Given the description of an element on the screen output the (x, y) to click on. 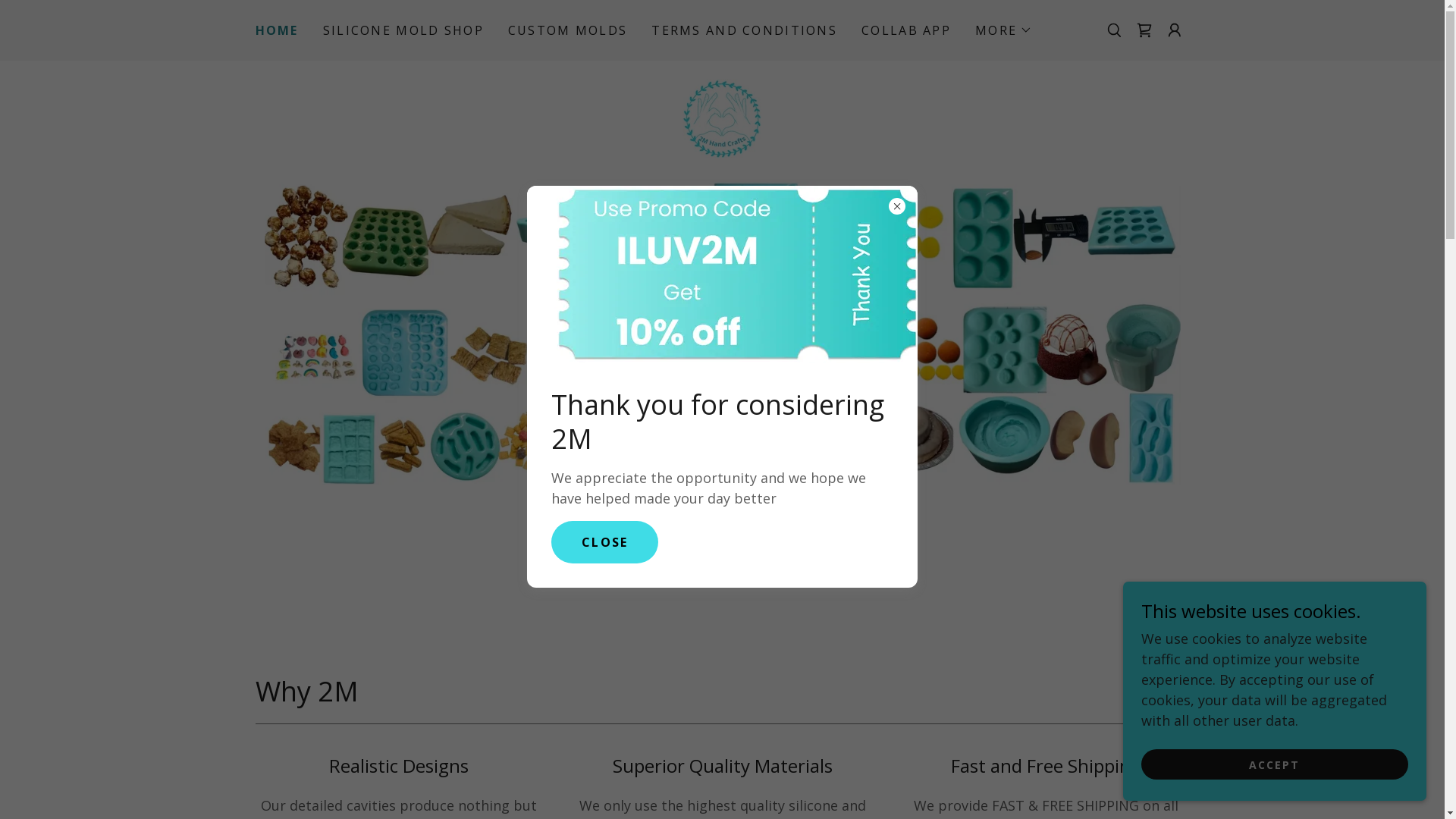
HOME Element type: text (276, 30)
MORE Element type: text (1003, 30)
SILICONE MOLD SHOP Element type: text (403, 29)
CLOSE Element type: text (604, 541)
TERMS AND CONDITIONS Element type: text (743, 29)
ACCEPT Element type: text (1274, 764)
CUSTOM MOLDS Element type: text (567, 29)
SHOP NOW Element type: text (722, 523)
COLLAB APP Element type: text (905, 29)
2M Hand Crafts Element type: hover (721, 116)
